Given the description of an element on the screen output the (x, y) to click on. 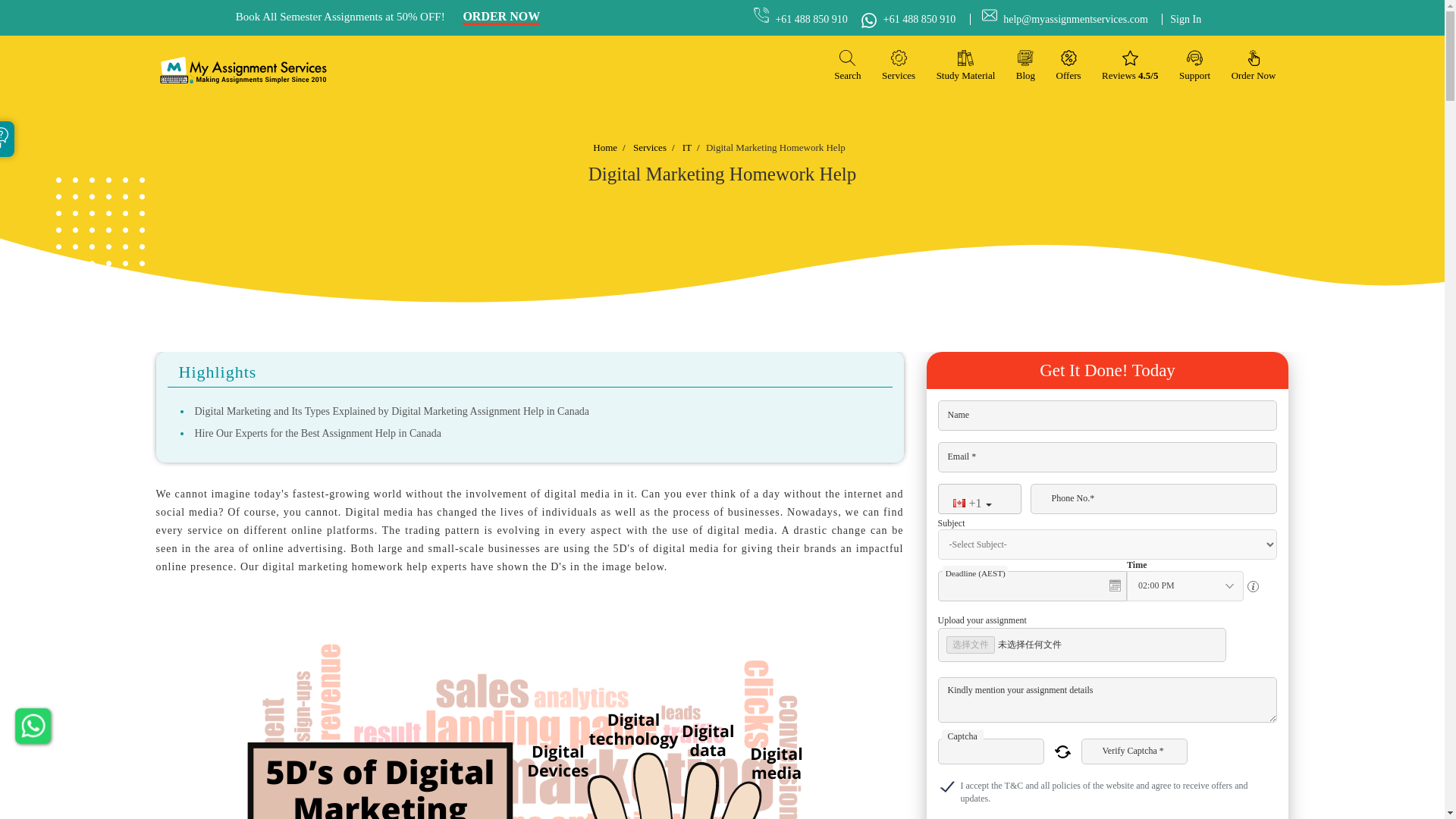
Services (898, 64)
Hire Our Experts for the Best Assignment Help in Canada (317, 432)
Hire Our Experts for the Best Assignment Help in Canada (317, 432)
Sign In (1181, 19)
Assignment Help (242, 69)
